Given the description of an element on the screen output the (x, y) to click on. 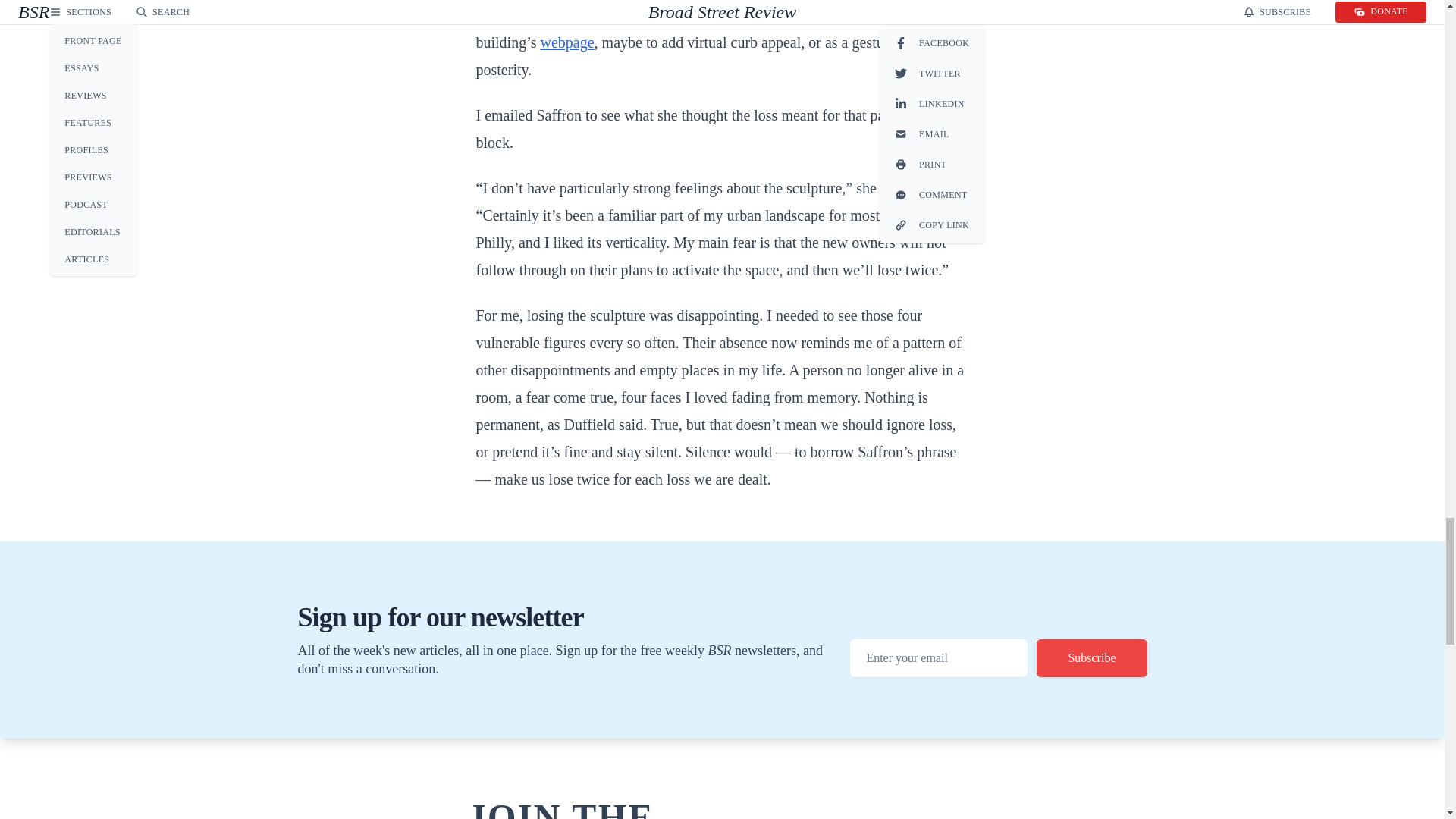
Subscribe (1091, 658)
webpage (567, 42)
Subscribe (1091, 658)
